Given the description of an element on the screen output the (x, y) to click on. 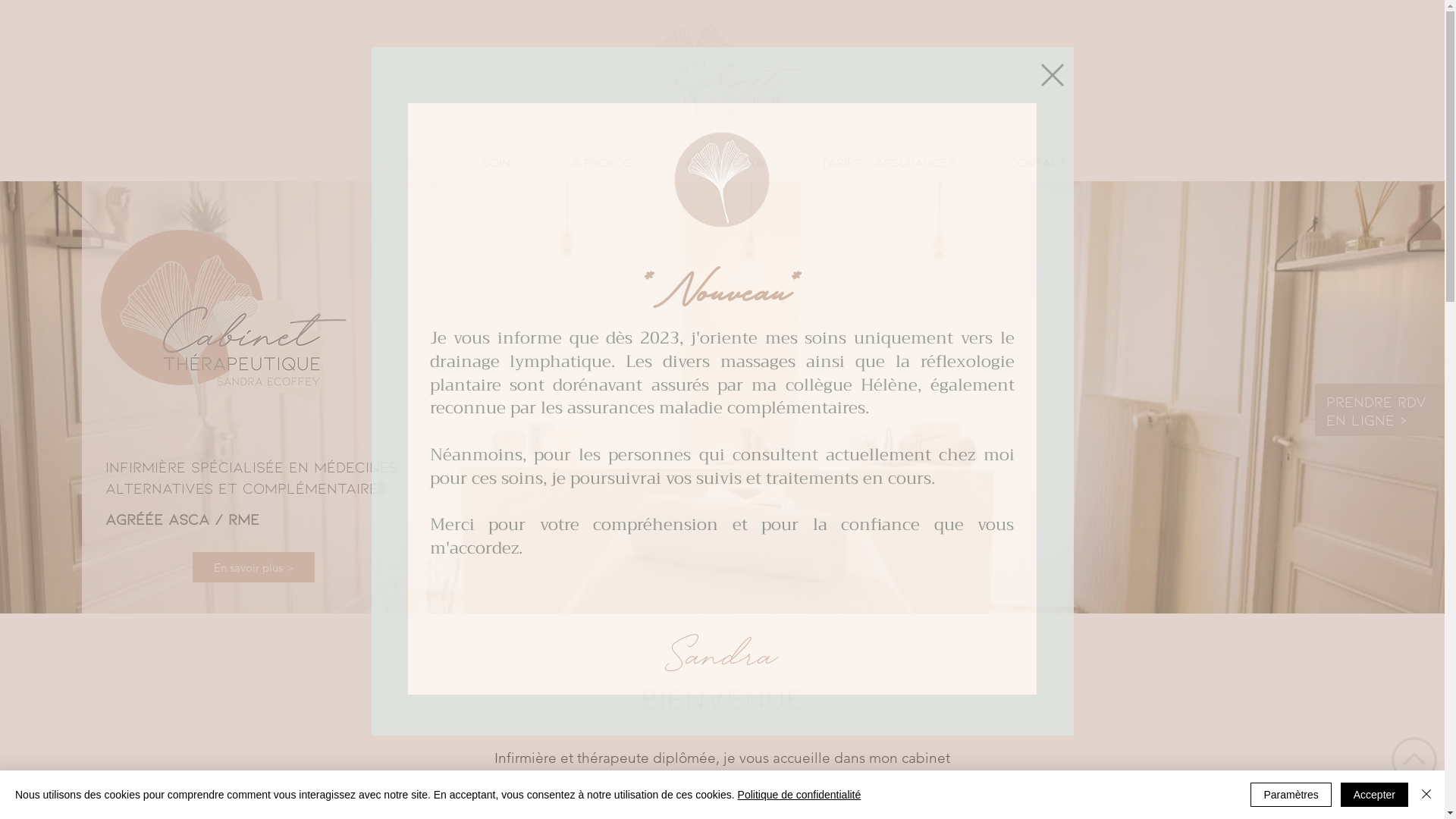
PRENDRE RDV Element type: text (726, 162)
TARIFS / ASSURANCES Element type: text (887, 162)
En savoir plus > Element type: text (253, 567)
ACCUEIL Element type: text (402, 162)
Accepter Element type: text (1374, 794)
Prendre rdv en ligne > Element type: text (1376, 409)
Retour au site Element type: hover (1051, 74)
CONTACT Element type: text (1038, 162)
